Given the description of an element on the screen output the (x, y) to click on. 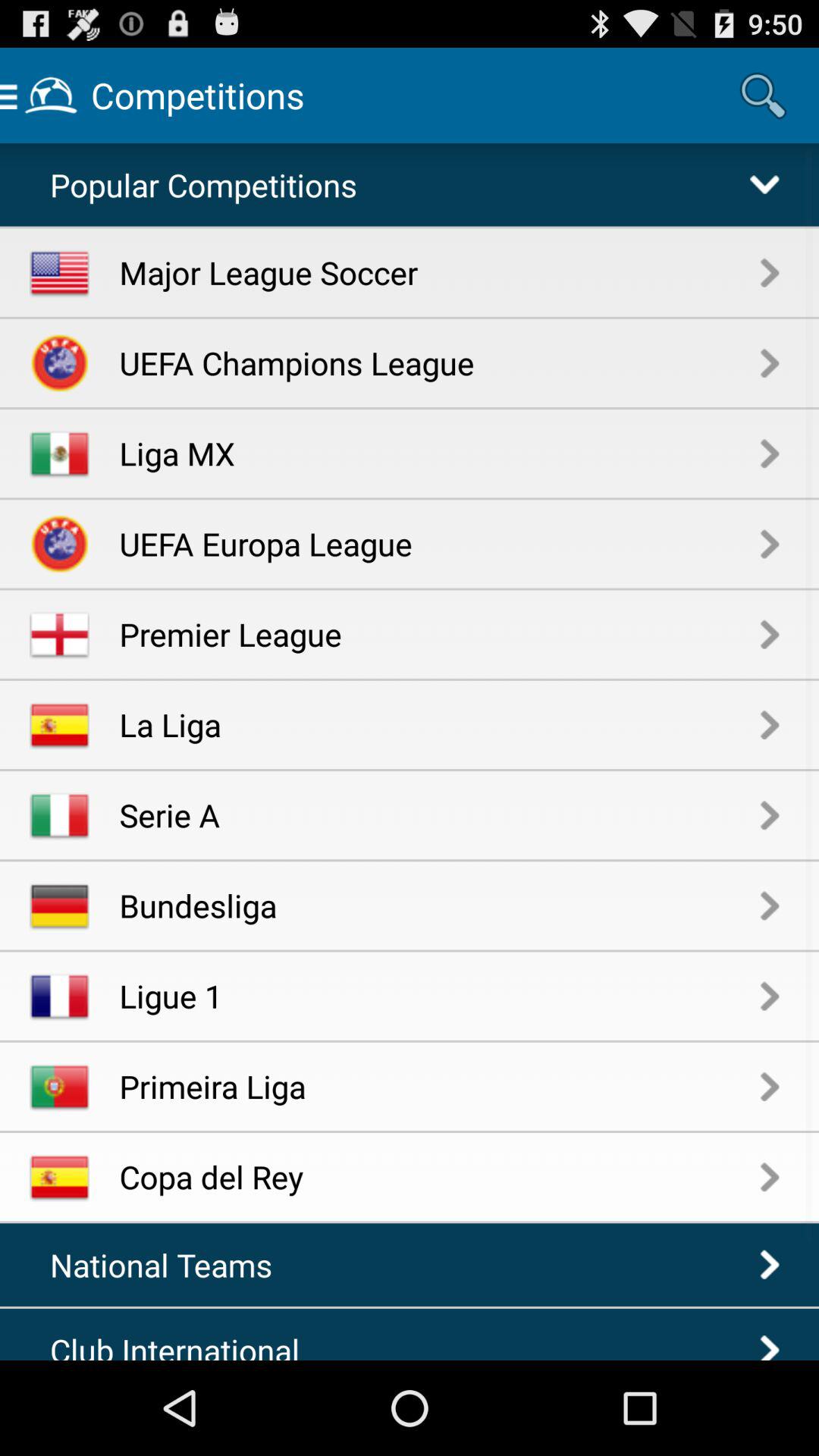
choose the primeira liga app (439, 1085)
